Given the description of an element on the screen output the (x, y) to click on. 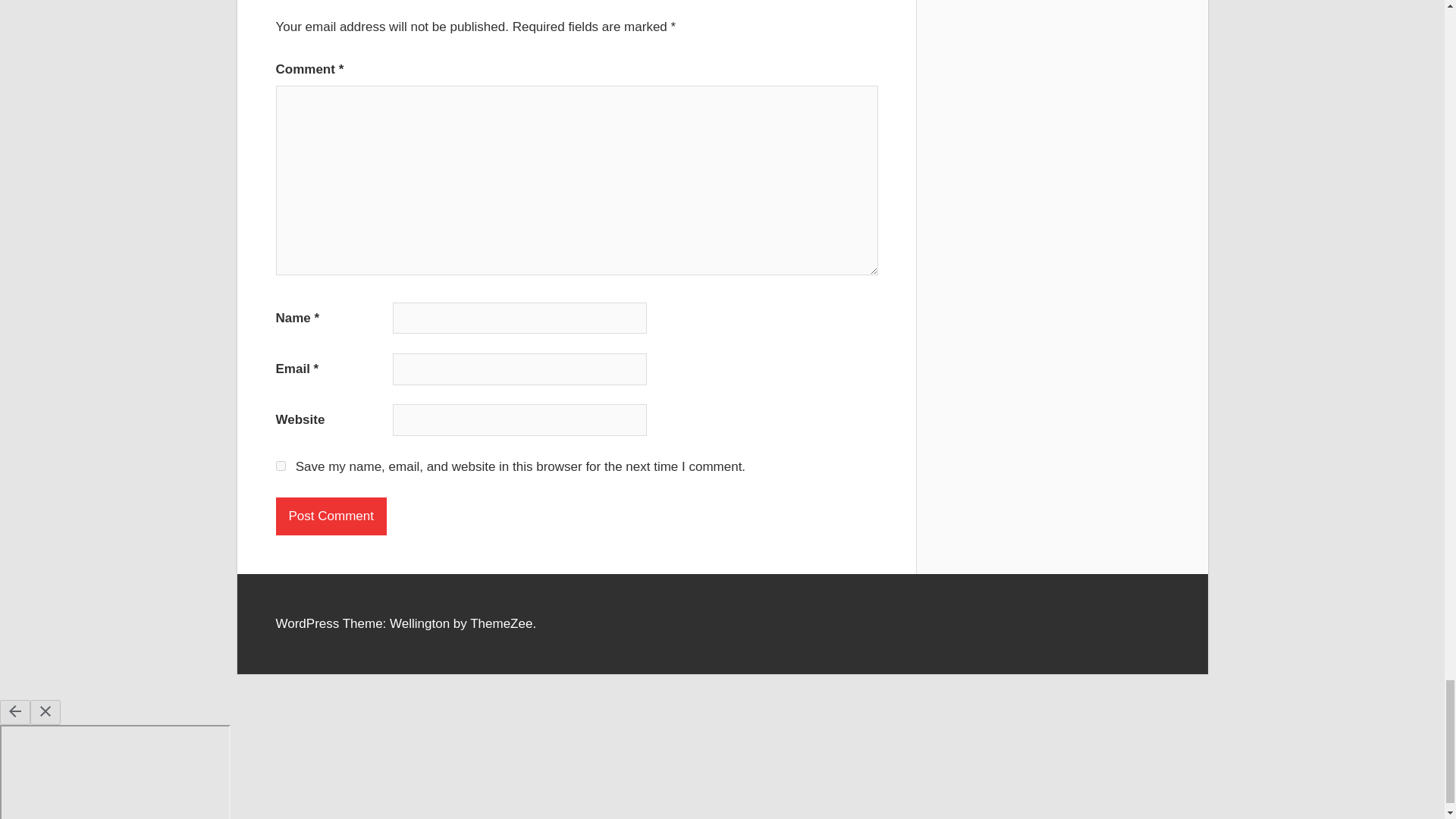
Post Comment (331, 516)
yes (280, 465)
